Given the description of an element on the screen output the (x, y) to click on. 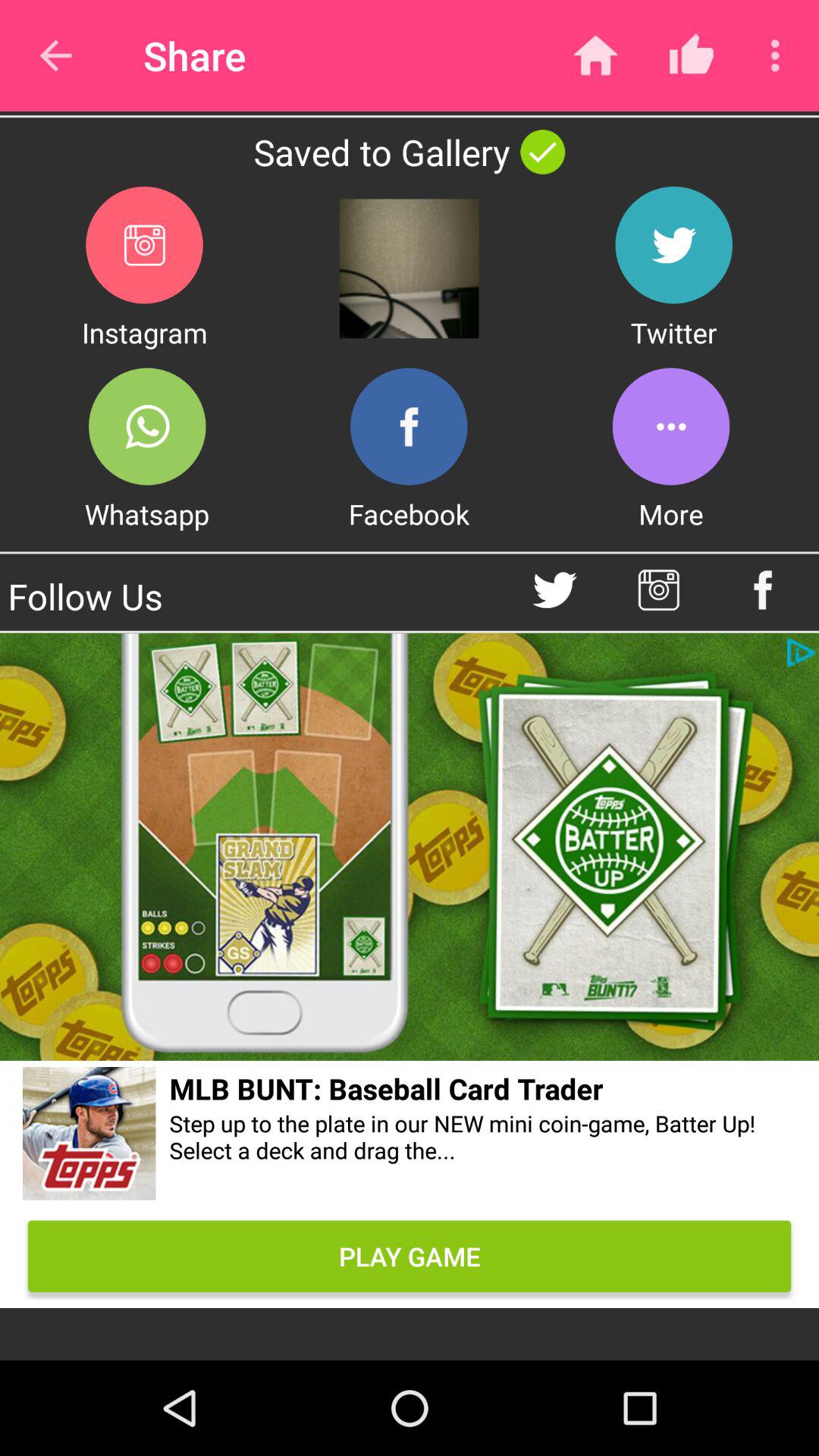
more (670, 426)
